Given the description of an element on the screen output the (x, y) to click on. 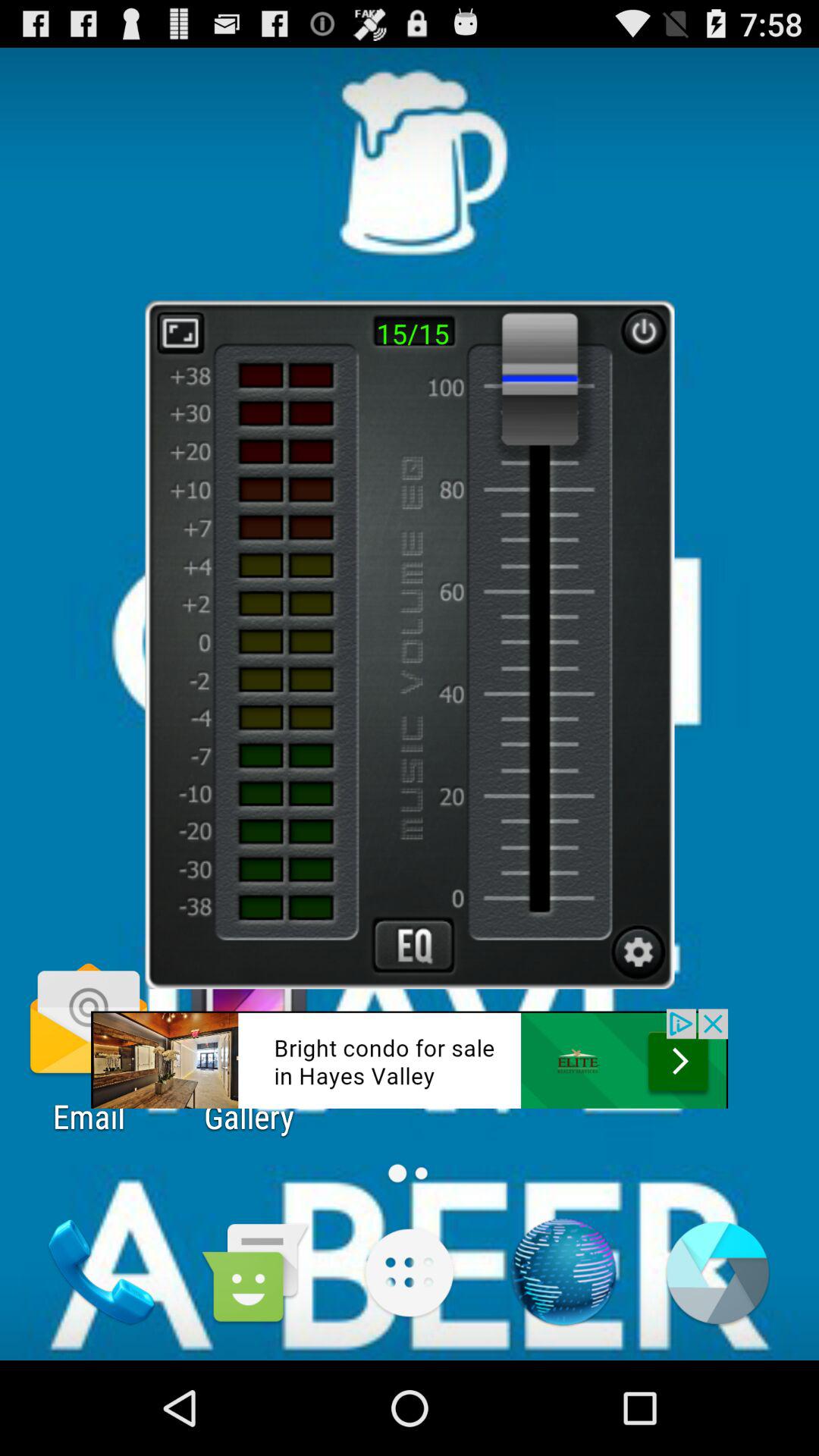
link button (409, 1058)
